Given the description of an element on the screen output the (x, y) to click on. 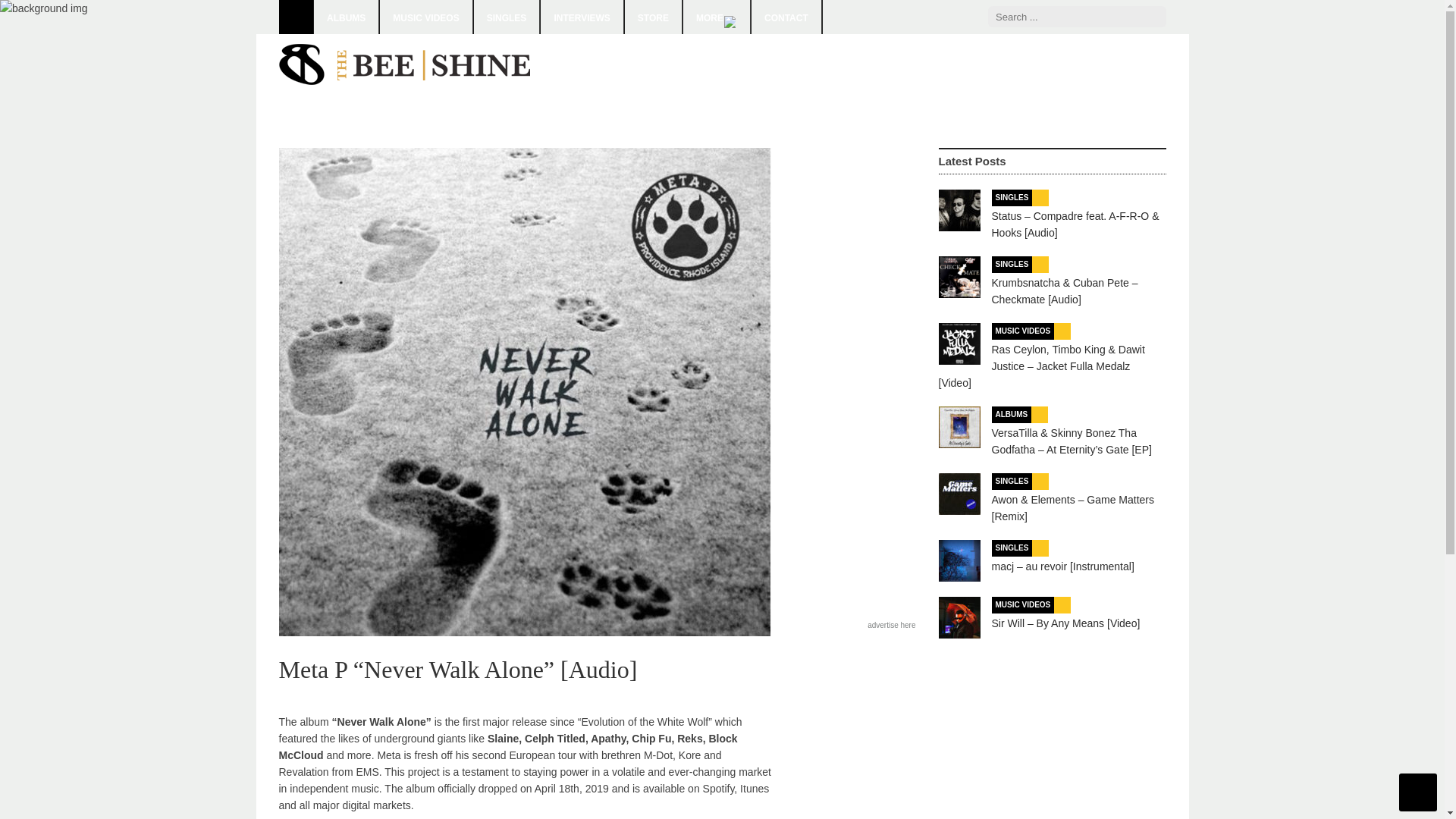
SINGLES (1011, 264)
SINGLES (1011, 197)
MUSIC VIDEOS (1022, 330)
ALBUMS (1011, 414)
View all posts in SINGLES (1011, 197)
Search (1152, 16)
SINGLES (1011, 481)
View all posts in ALBUMS (1011, 414)
View all posts in SINGLES (1011, 264)
Advertisement (890, 90)
